Given the description of an element on the screen output the (x, y) to click on. 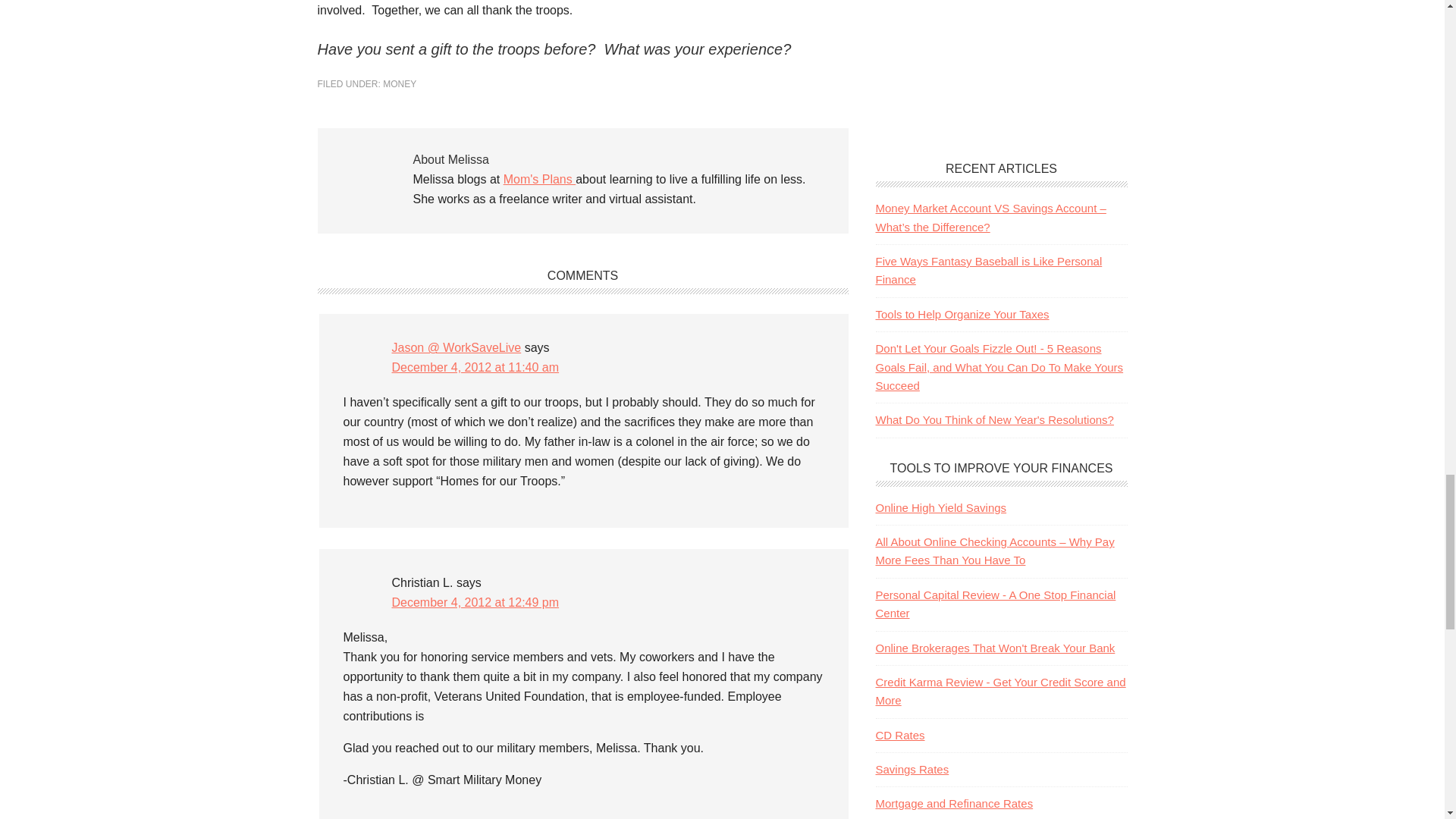
MONEY (399, 83)
December 4, 2012 at 11:40 am (475, 367)
December 4, 2012 at 12:49 pm (475, 602)
Look Five Ways Fantasy Baseball is Like Personal Finance (988, 269)
Mom's Plans (539, 178)
Look What Do You Think of New Year's Resolutions? (994, 419)
Look Tools to Help Organize Your Taxes (961, 314)
